Given the description of an element on the screen output the (x, y) to click on. 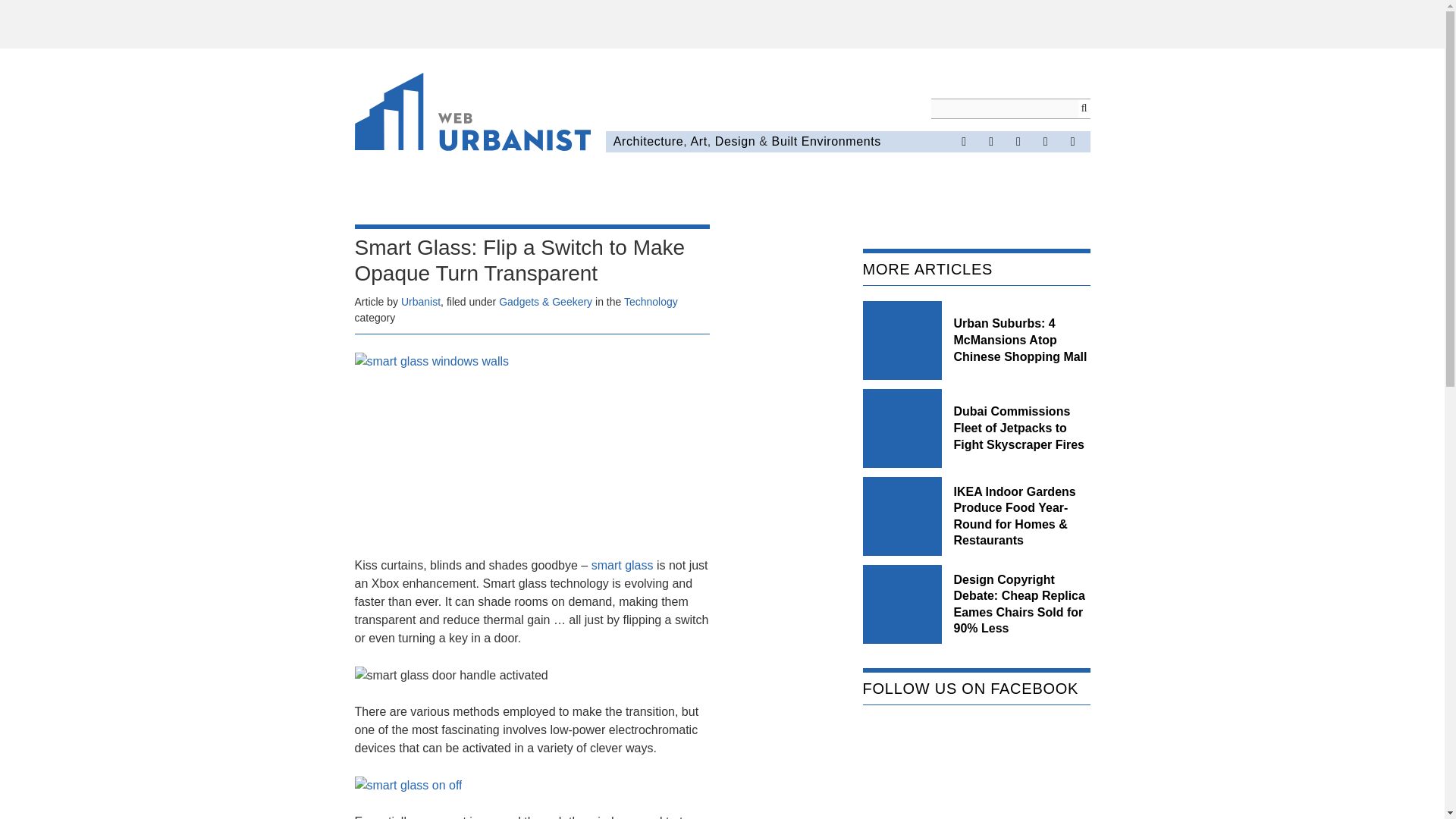
smart glass (622, 564)
Technology (651, 301)
Architecture (648, 141)
Follow Us on Twitter! (990, 141)
Subscribe to the RSS Feed! (1045, 141)
Subscribe by Email (1072, 141)
Become a Fan on Facebook! (963, 141)
Check Out Posts on Pinterest! (1018, 141)
Urbanist (421, 301)
